Given the description of an element on the screen output the (x, y) to click on. 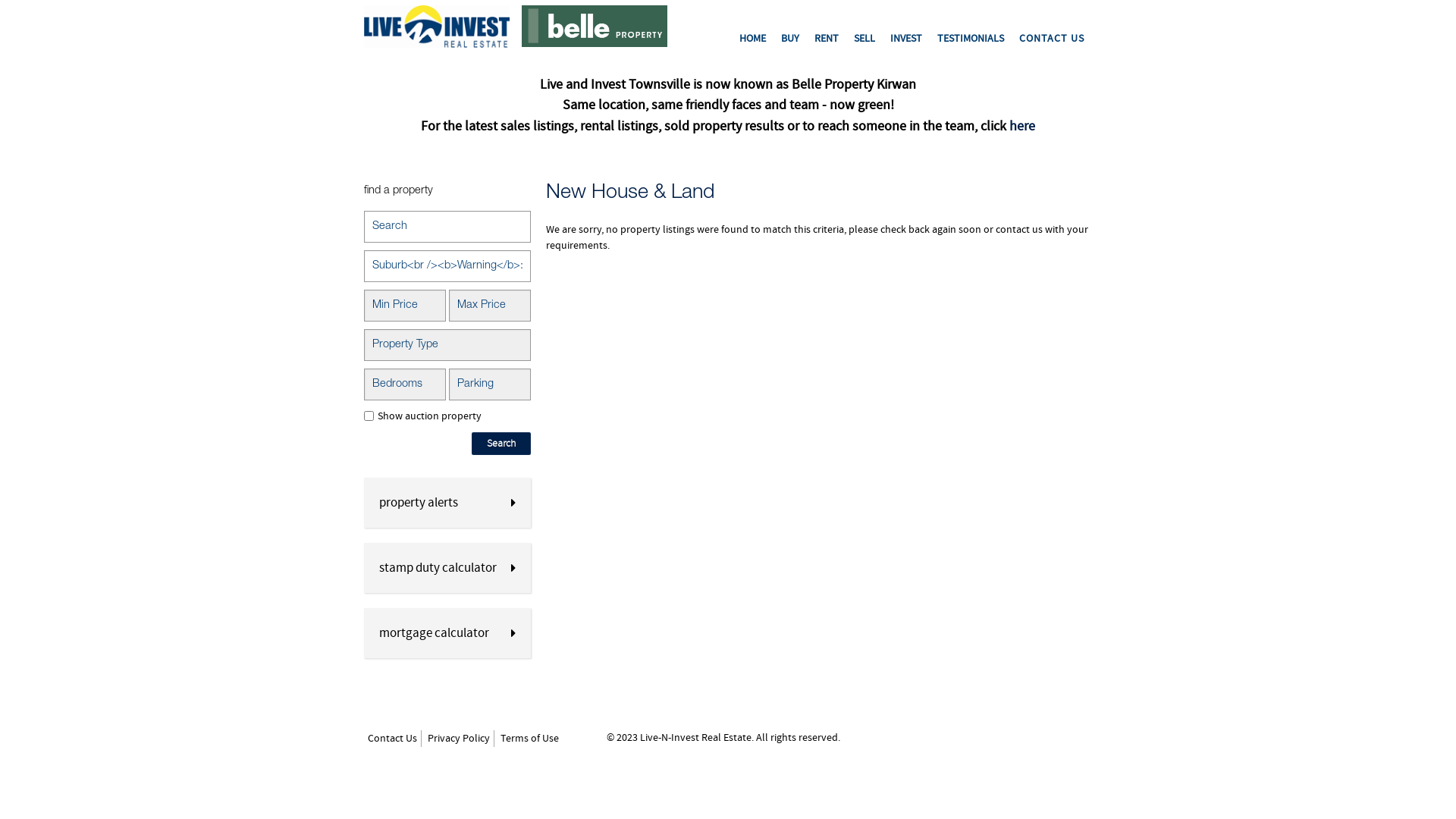
Terms of Use Element type: text (529, 738)
Privacy Policy Element type: text (458, 738)
Contact Us Element type: text (392, 738)
SELL Element type: text (864, 38)
mortgage calculator Element type: text (447, 633)
Live-N-Invest Real Estate - Real Estate Agents Element type: hover (436, 26)
RENT Element type: text (826, 38)
HOME Element type: text (752, 38)
here Element type: text (1022, 125)
Search Element type: text (500, 443)
stamp duty calculator Element type: text (447, 567)
property alerts Element type: text (447, 502)
Belle Property Townsville - Real Estate Agents Element type: hover (594, 26)
TESTIMONIALS Element type: text (970, 38)
INVEST Element type: text (905, 38)
CONTACT US Element type: text (1051, 38)
BUY Element type: text (789, 38)
